Given the description of an element on the screen output the (x, y) to click on. 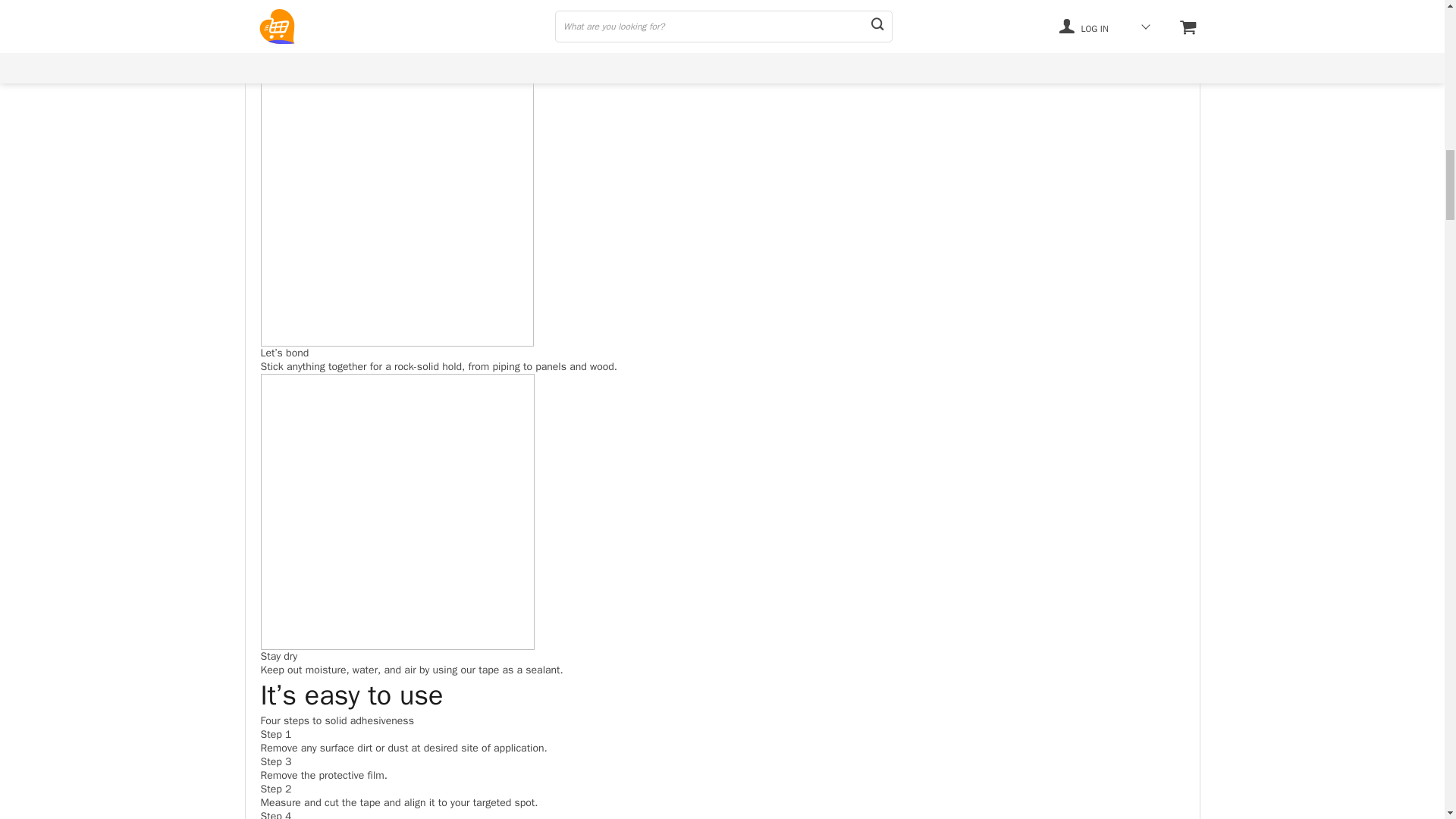
b0418cf577909ab14c8dab045200b64e 1 (397, 511)
382a4ad90a95547596bcf0c1b6c9fb6d 1 (397, 208)
7955-e49169c64476e89165ca4d7f933b42dc-640x640 1 (397, 14)
